Given the description of an element on the screen output the (x, y) to click on. 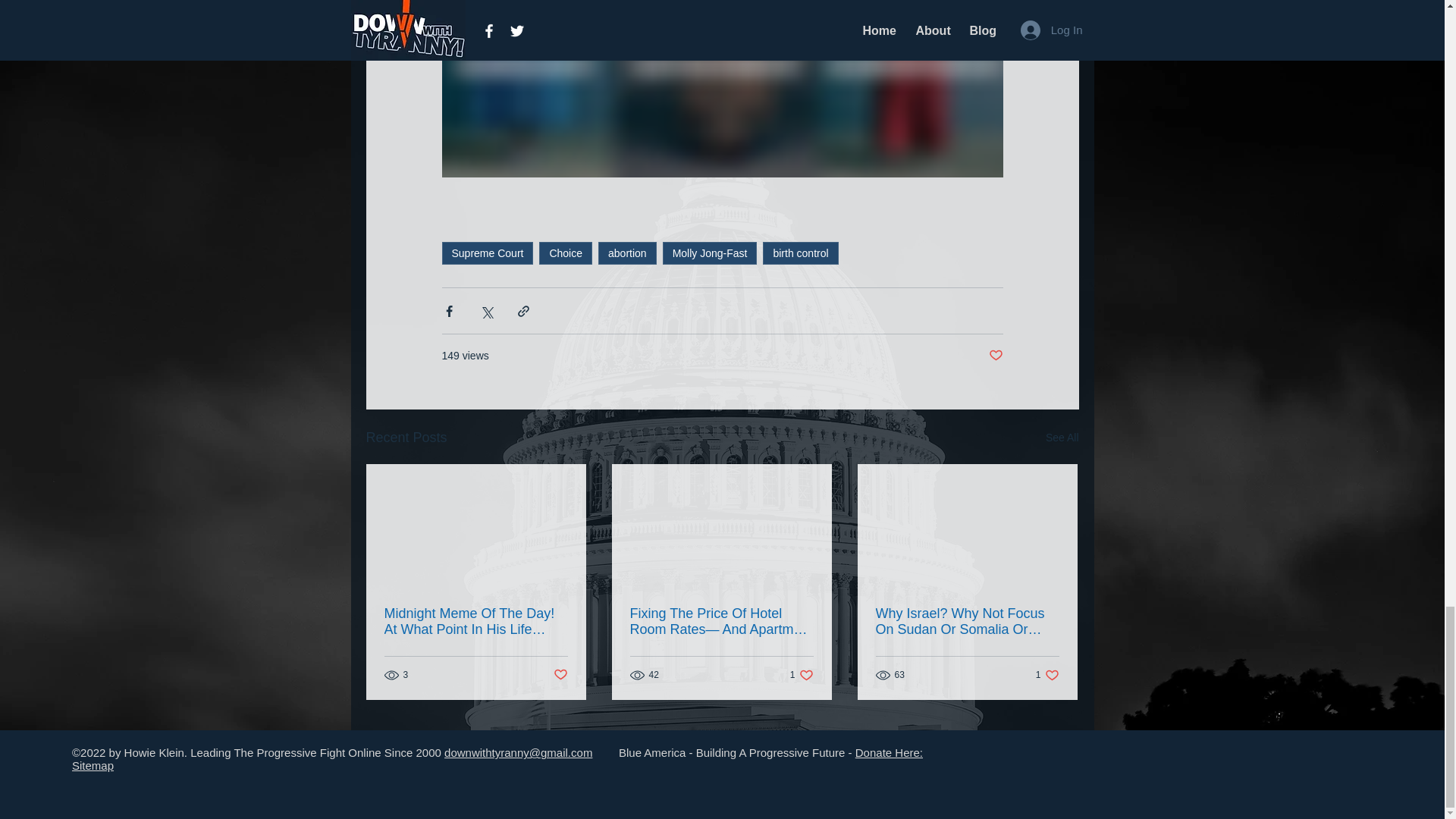
abortion (627, 252)
Supreme Court (486, 252)
Molly Jong-Fast (709, 252)
See All (1061, 437)
Post not marked as liked (560, 675)
Post not marked as liked (995, 355)
birth control (800, 252)
Choice (565, 252)
